Given the description of an element on the screen output the (x, y) to click on. 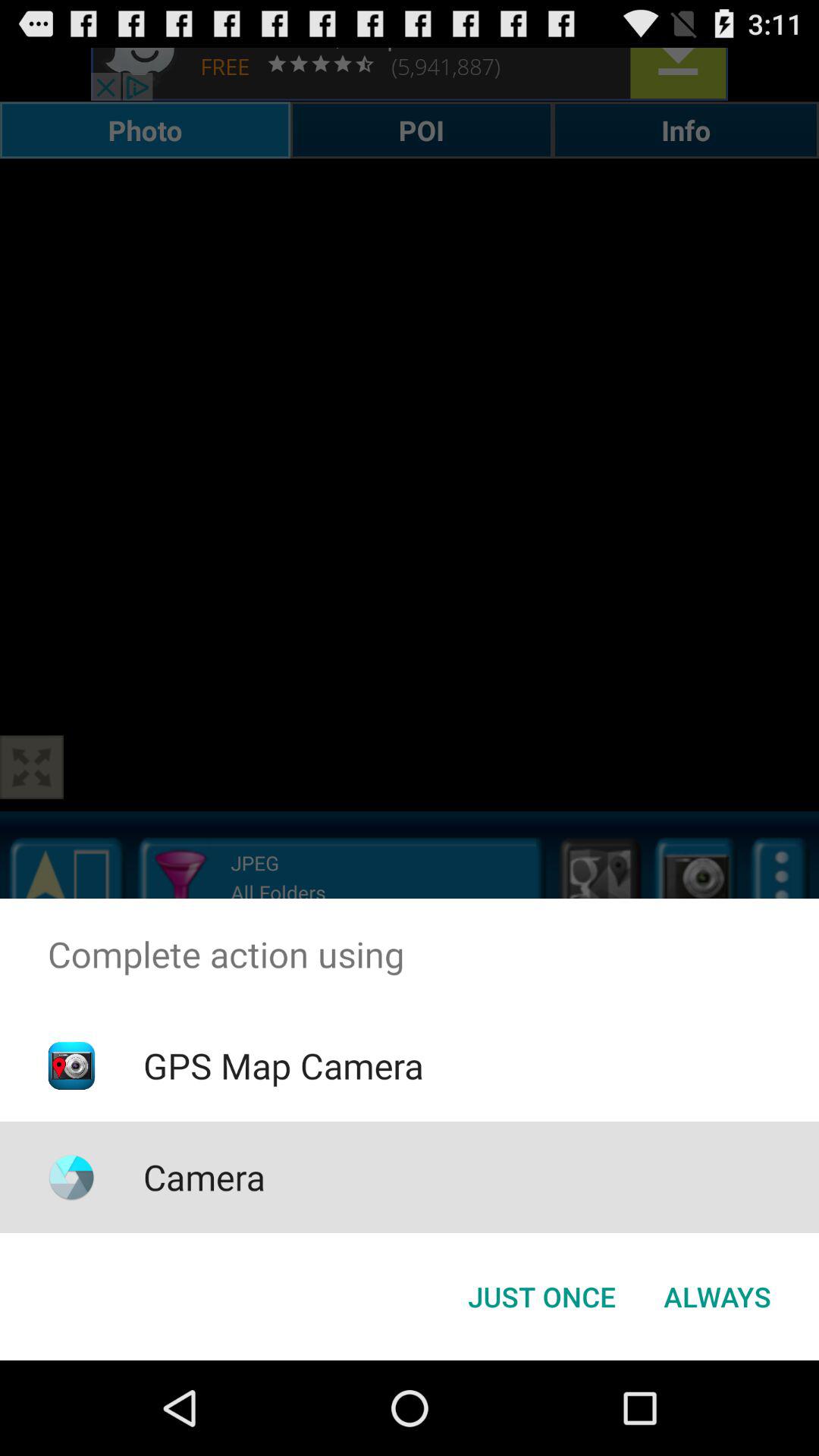
click button to the right of the just once (717, 1296)
